Given the description of an element on the screen output the (x, y) to click on. 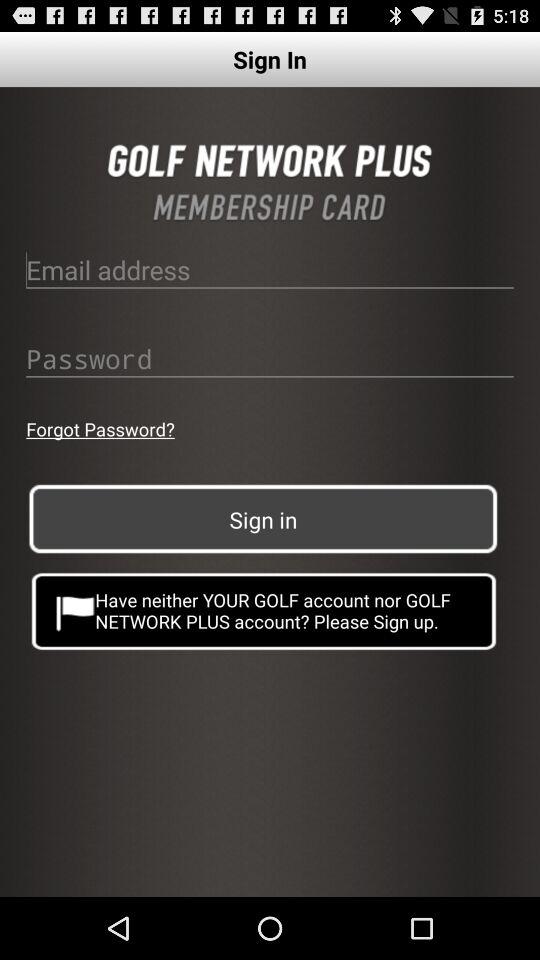
turn on have neither your (264, 610)
